Given the description of an element on the screen output the (x, y) to click on. 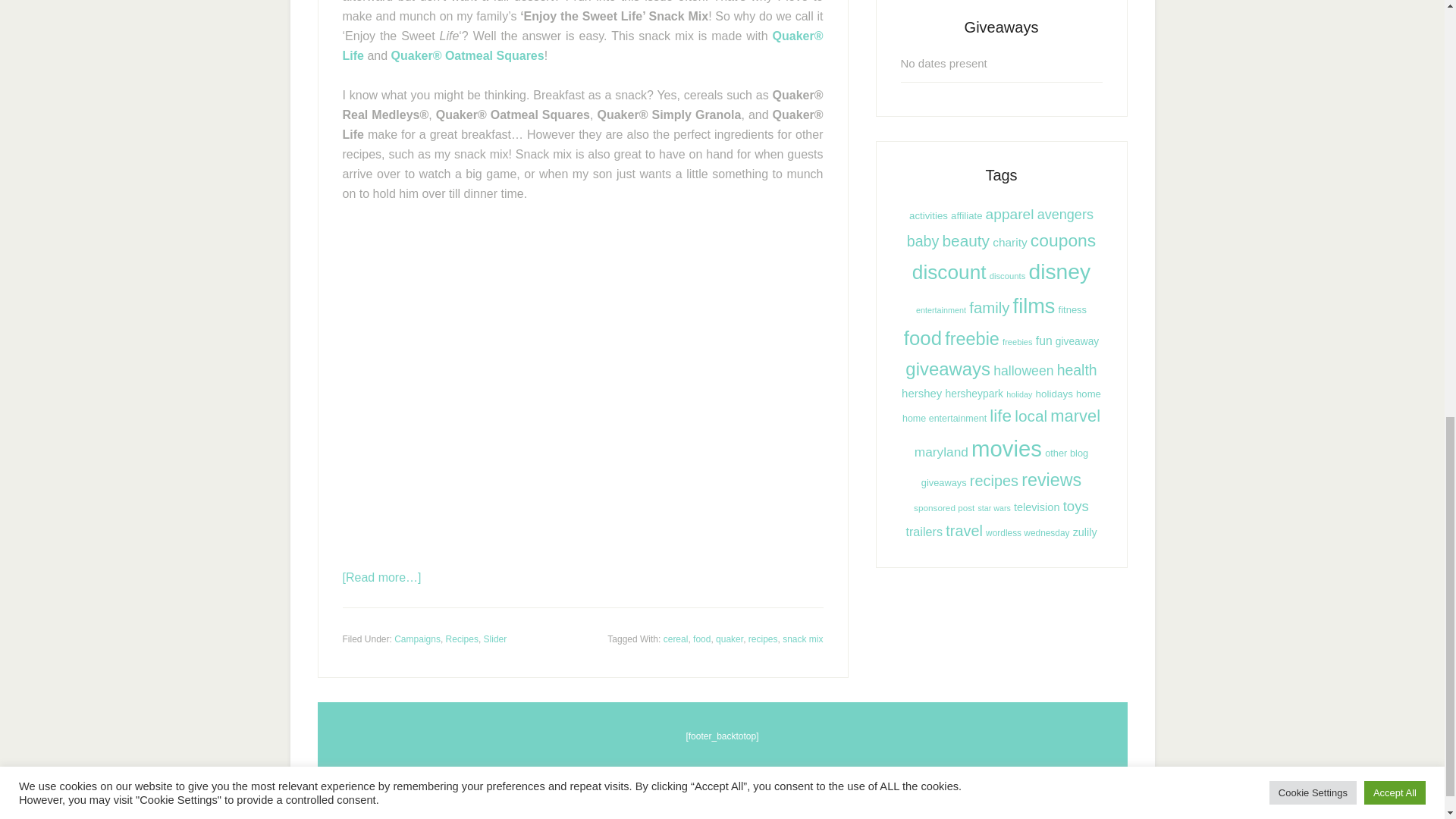
activities (927, 215)
Slider (494, 638)
cereal (675, 638)
Campaigns (417, 638)
affiliate (965, 215)
food (701, 638)
recipes (762, 638)
Recipes (462, 638)
snack mix (802, 638)
quaker (729, 638)
